Given the description of an element on the screen output the (x, y) to click on. 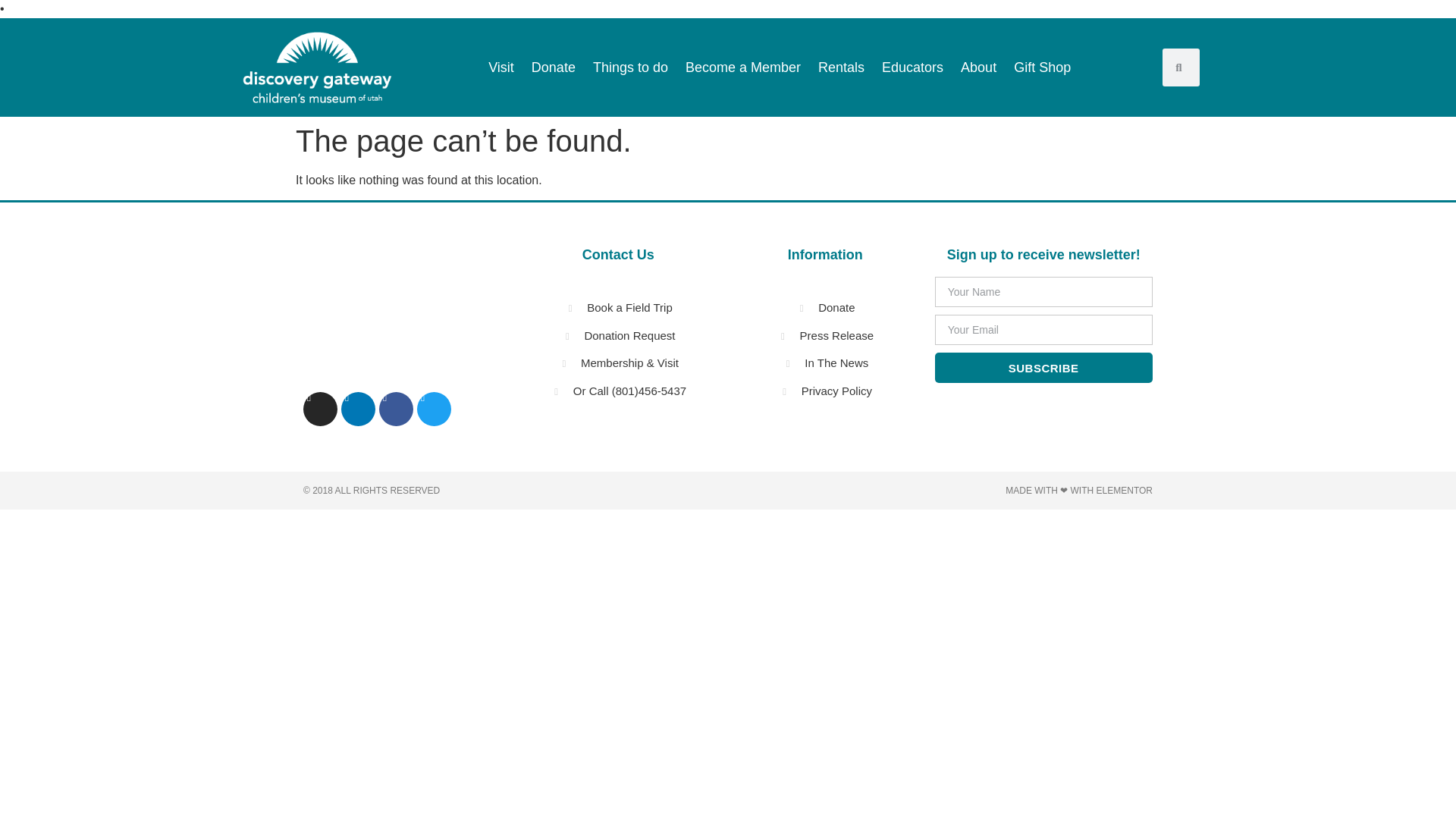
Things to do (630, 67)
Rentals (841, 67)
Gift Shop (1041, 67)
Educators (912, 67)
Become a Member (742, 67)
444 W 100 S, Salt Lake City, UT 84101 (382, 308)
Donate (553, 67)
